Given the description of an element on the screen output the (x, y) to click on. 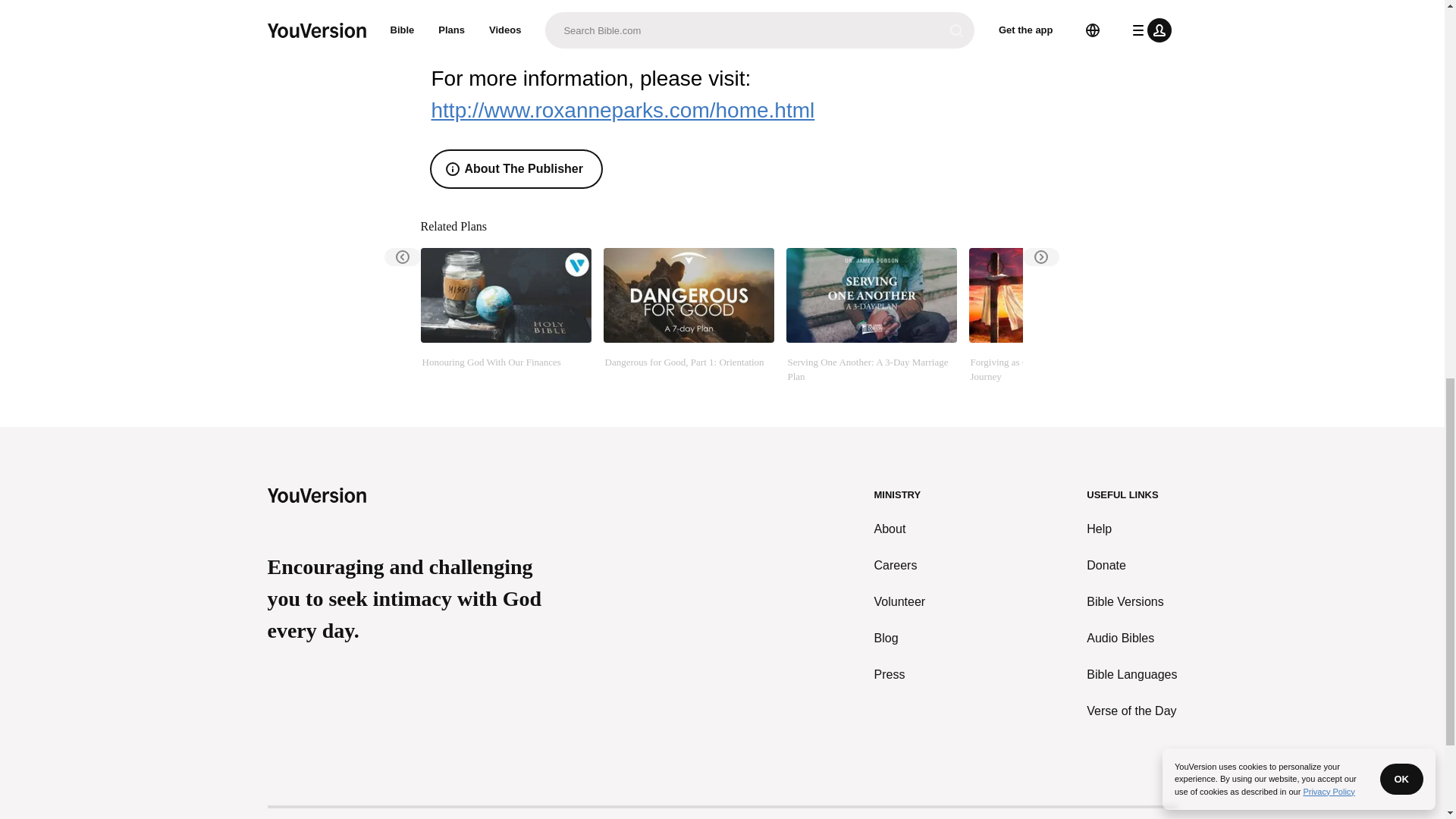
Dangerous for Good, Part 1: Orientation (689, 316)
Bible Languages (1131, 674)
Bible Versions (1131, 601)
Forgiving as Christ Forgave: A 7-Day Journey (1054, 316)
Honouring God With Our Finances (505, 316)
About (900, 529)
Blog (900, 638)
Press (900, 674)
Volunteer (900, 601)
A DIGITAL MINISTRY OF (721, 813)
